Given the description of an element on the screen output the (x, y) to click on. 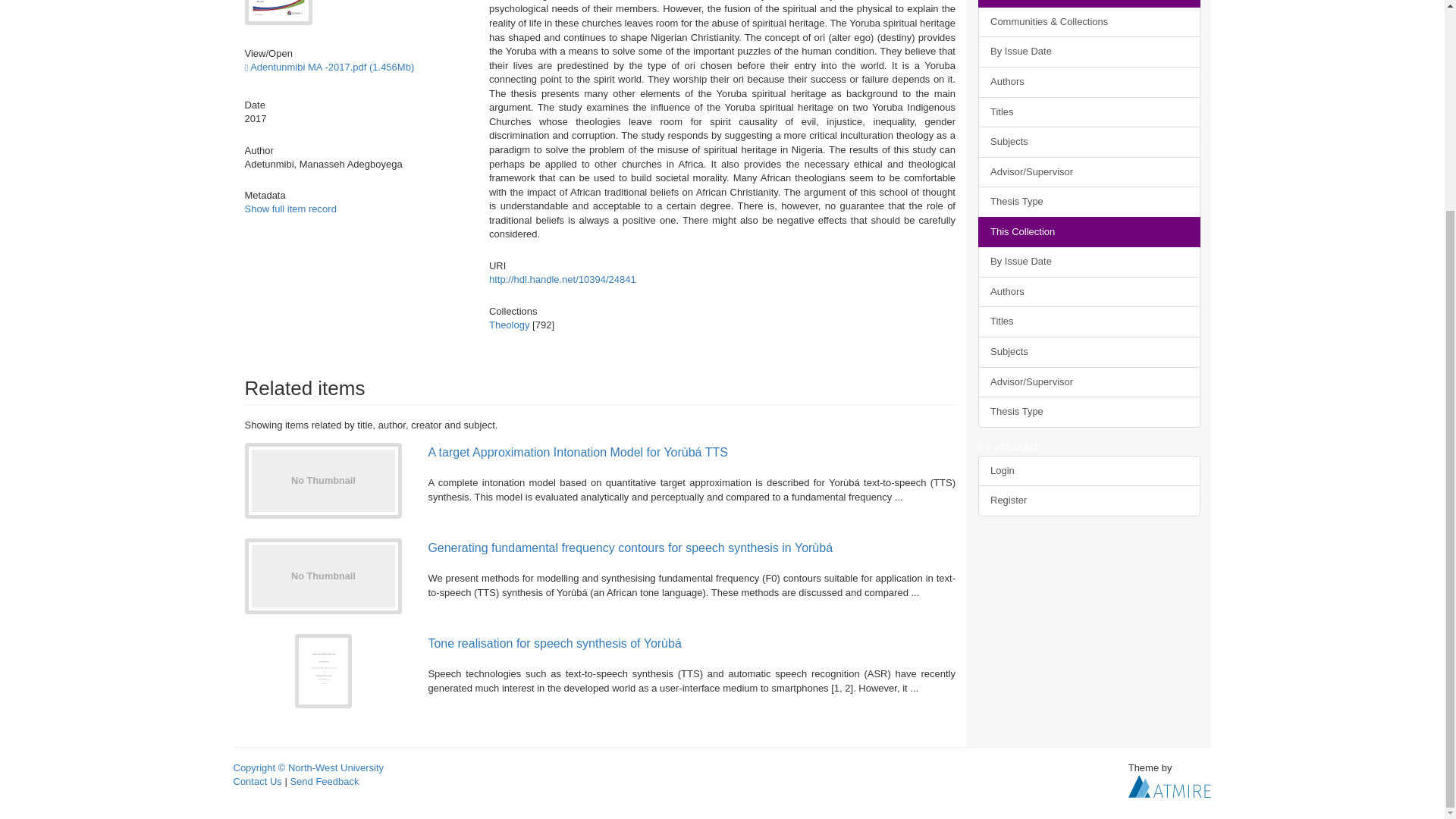
Authors (1088, 81)
Thesis Type (1088, 201)
Subjects (1088, 142)
Atmire NV (1169, 785)
All of NWU-IR (1088, 3)
Authors (1088, 291)
By Issue Date (1088, 261)
By Issue Date (1088, 51)
Titles (1088, 111)
Show full item record (290, 208)
This Collection (1088, 232)
Theology (509, 324)
